Given the description of an element on the screen output the (x, y) to click on. 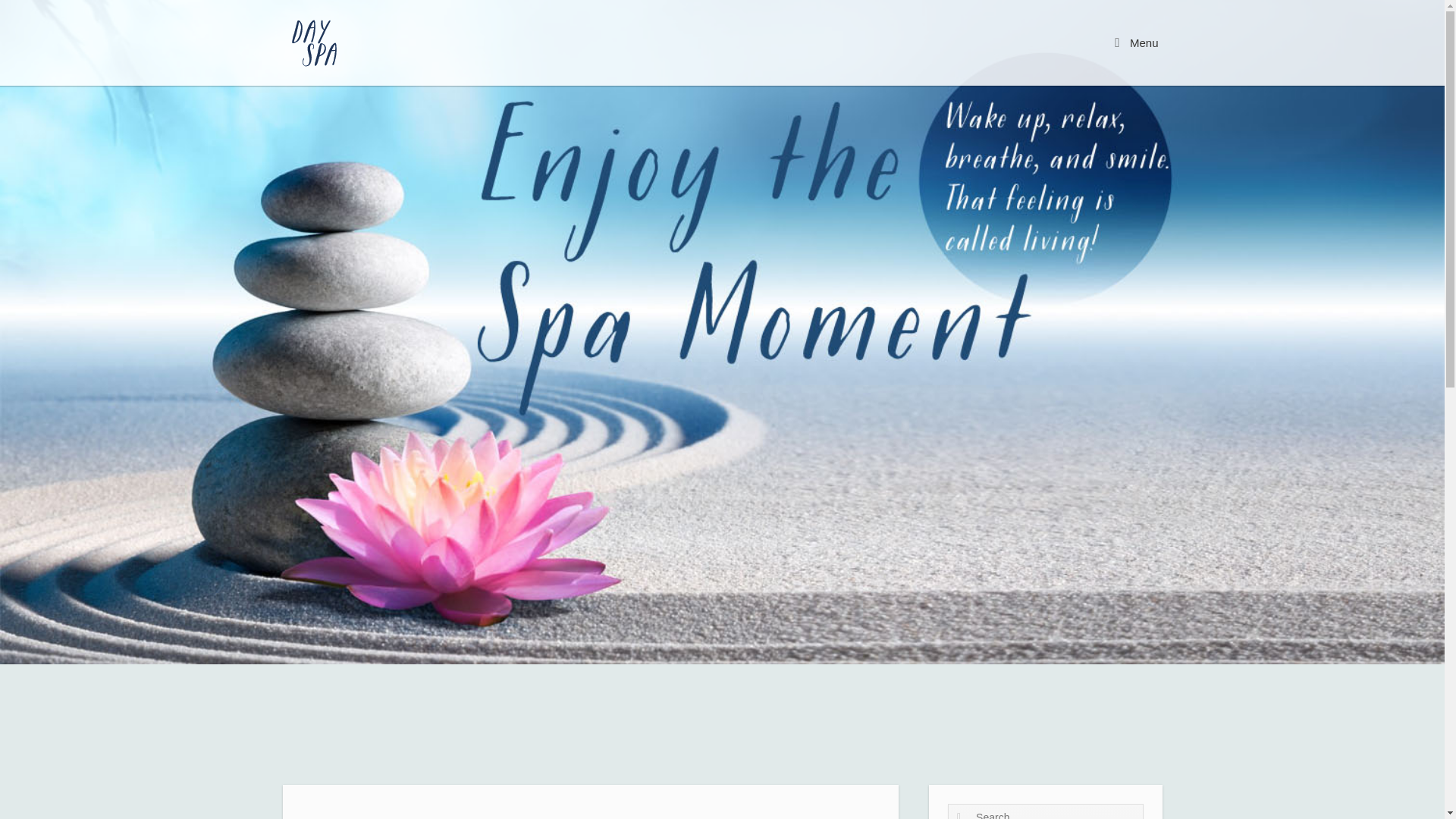
Menu (1136, 42)
Search (34, 15)
Day Spa Salon (315, 42)
